Given the description of an element on the screen output the (x, y) to click on. 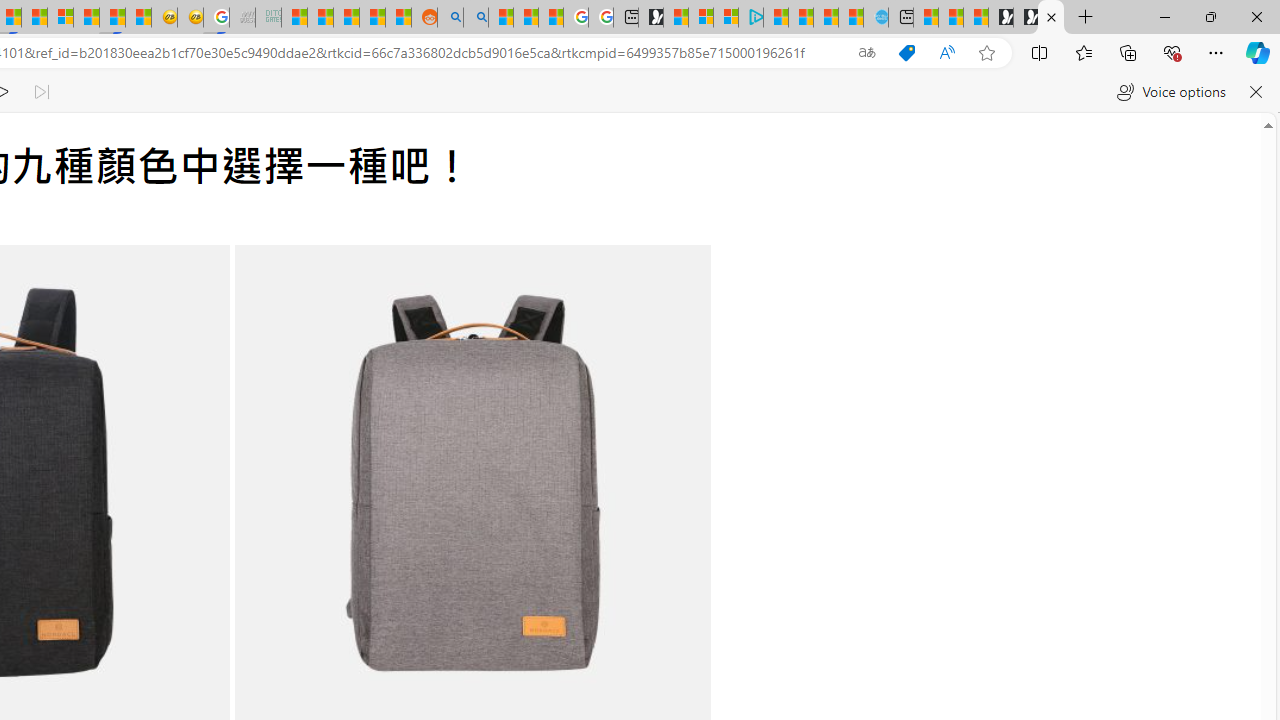
Utah sues federal government - Search (475, 17)
